Given the description of an element on the screen output the (x, y) to click on. 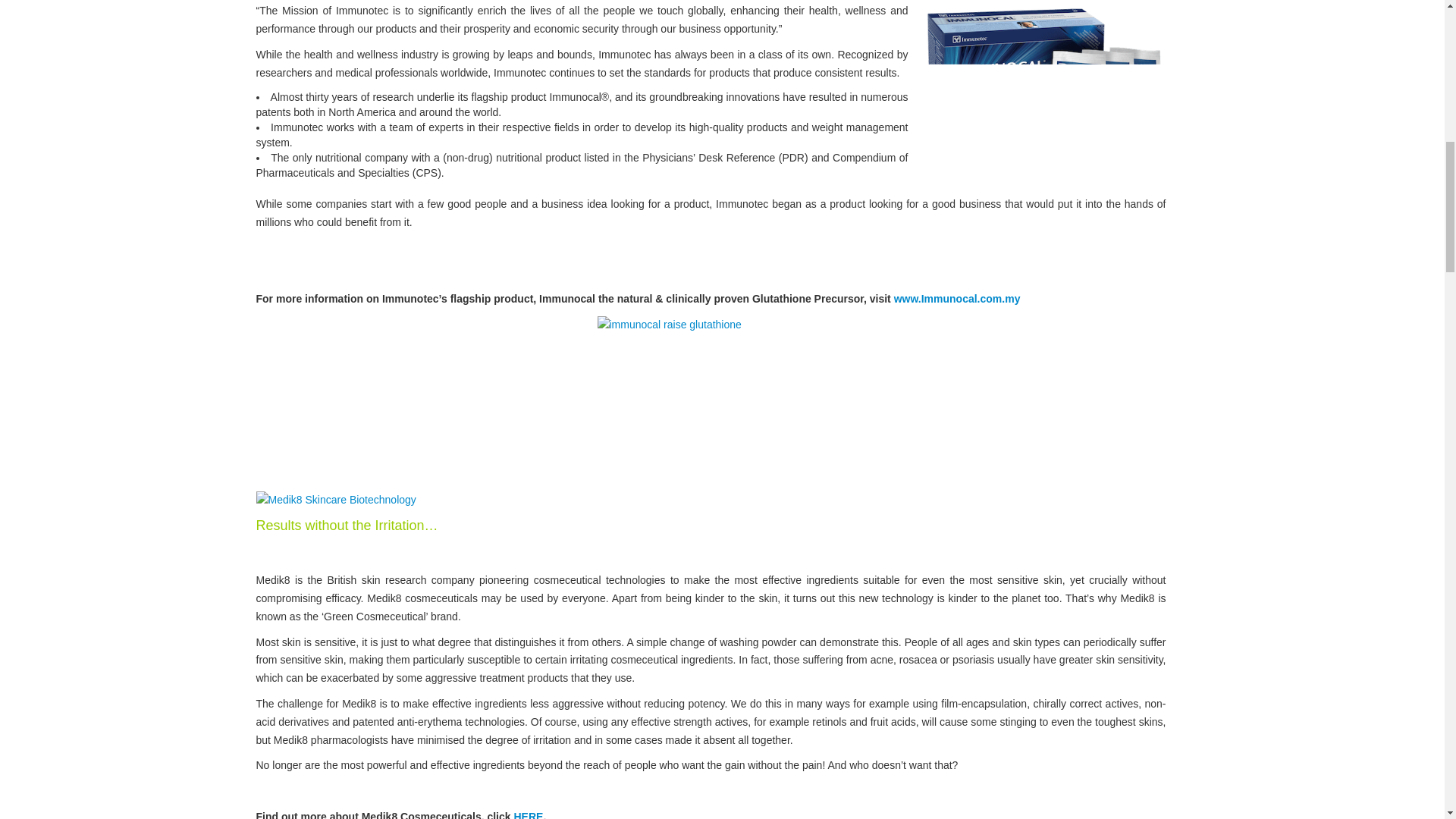
HERE (528, 814)
Medik8 Malaysia (528, 814)
Immunocal Malaysia (956, 298)
www.Immunocal.com.my (956, 298)
Medik8 Malaysia (336, 499)
